Given the description of an element on the screen output the (x, y) to click on. 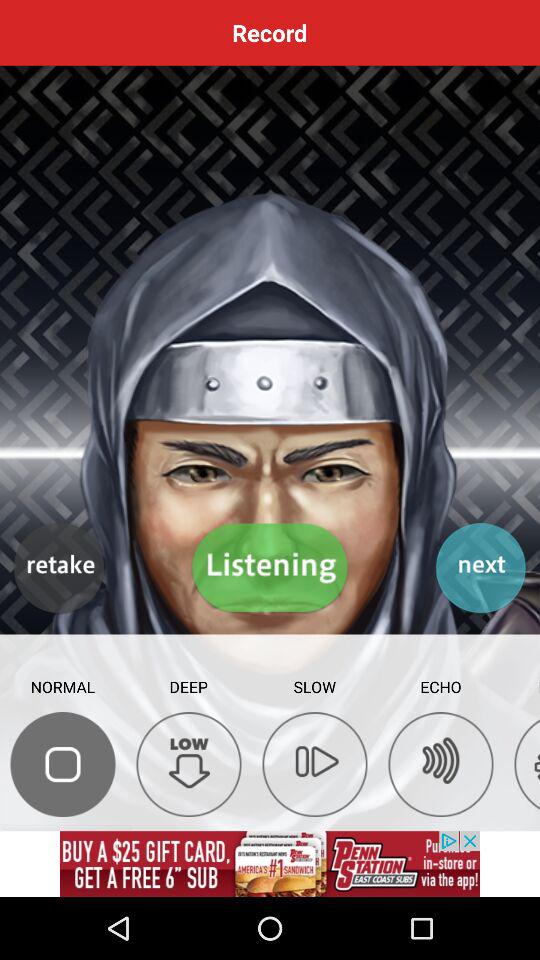
select the listening (269, 568)
